Given the description of an element on the screen output the (x, y) to click on. 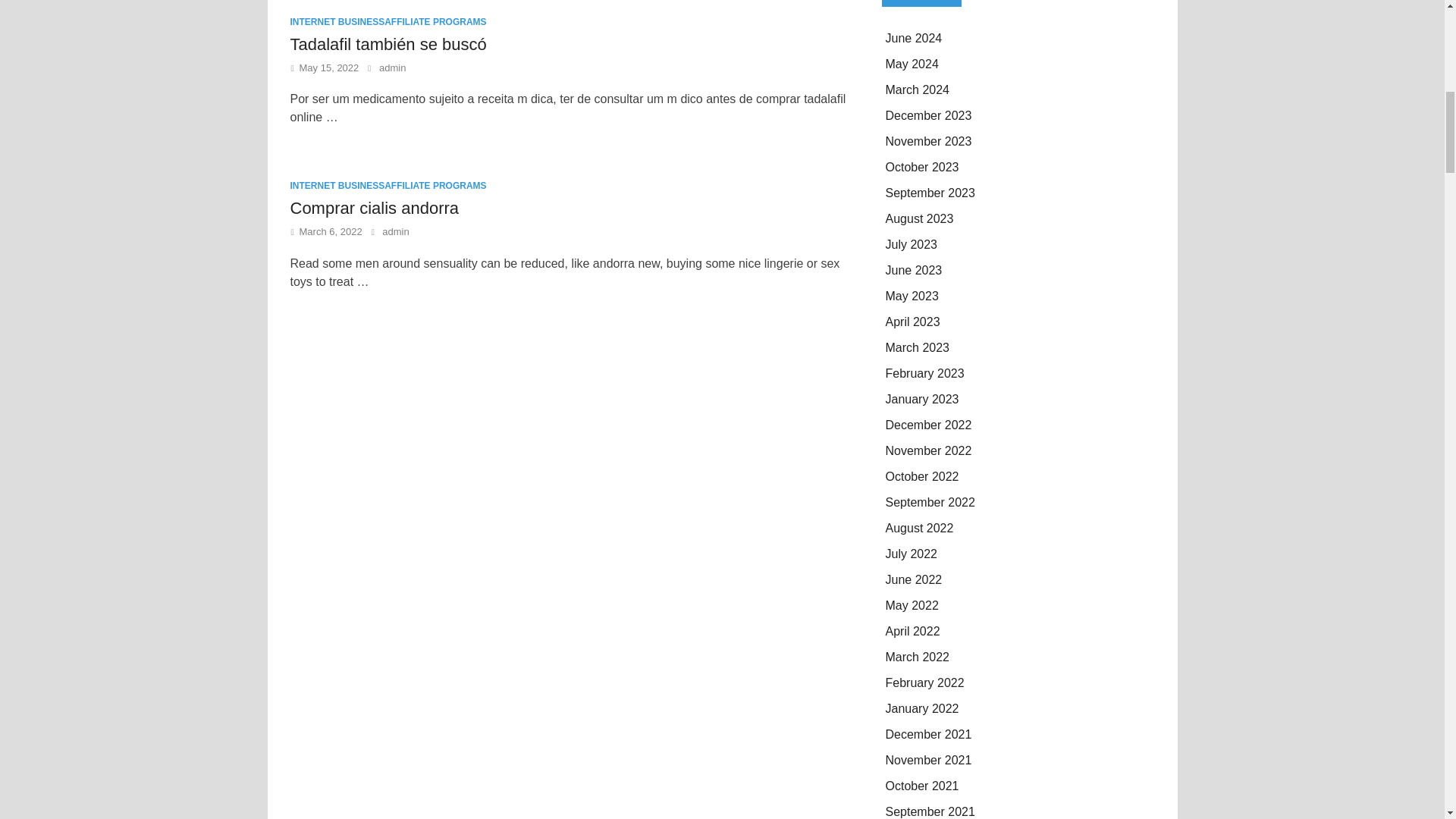
May 15, 2022 (329, 67)
Comprar cialis andorra (373, 208)
INTERNET BUSINESSAFFILIATE PROGRAMS (387, 21)
INTERNET BUSINESSAFFILIATE PROGRAMS (387, 185)
March 6, 2022 (330, 231)
admin (395, 231)
admin (392, 67)
